Given the description of an element on the screen output the (x, y) to click on. 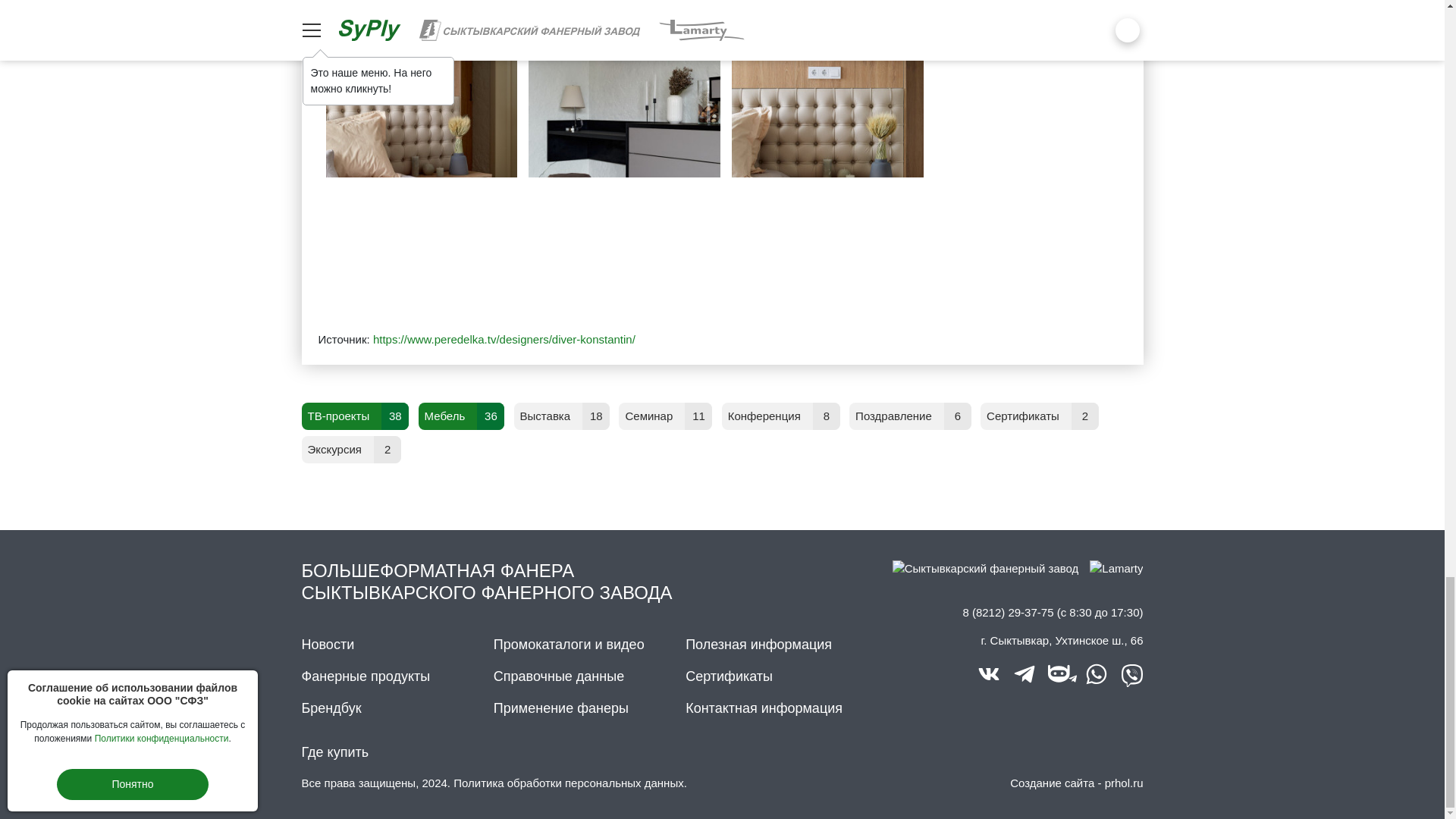
Telegram (1023, 673)
TelegramBot (1060, 673)
WhatsApp (1096, 673)
